Given the description of an element on the screen output the (x, y) to click on. 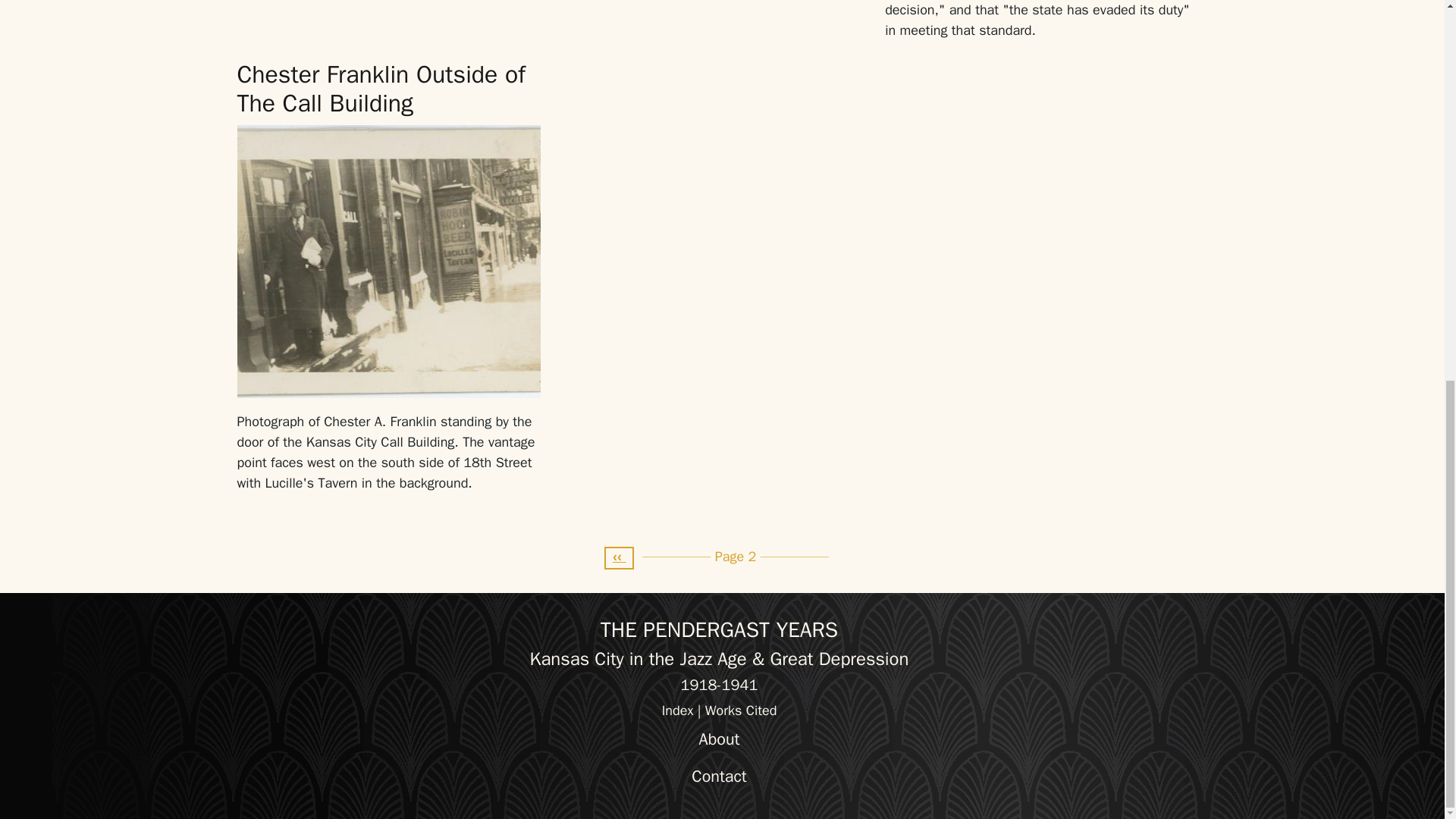
Works Cited (740, 710)
Chester Franklin Outside of The Call Building (379, 88)
About (718, 739)
Index (678, 710)
Contact (718, 776)
